Given the description of an element on the screen output the (x, y) to click on. 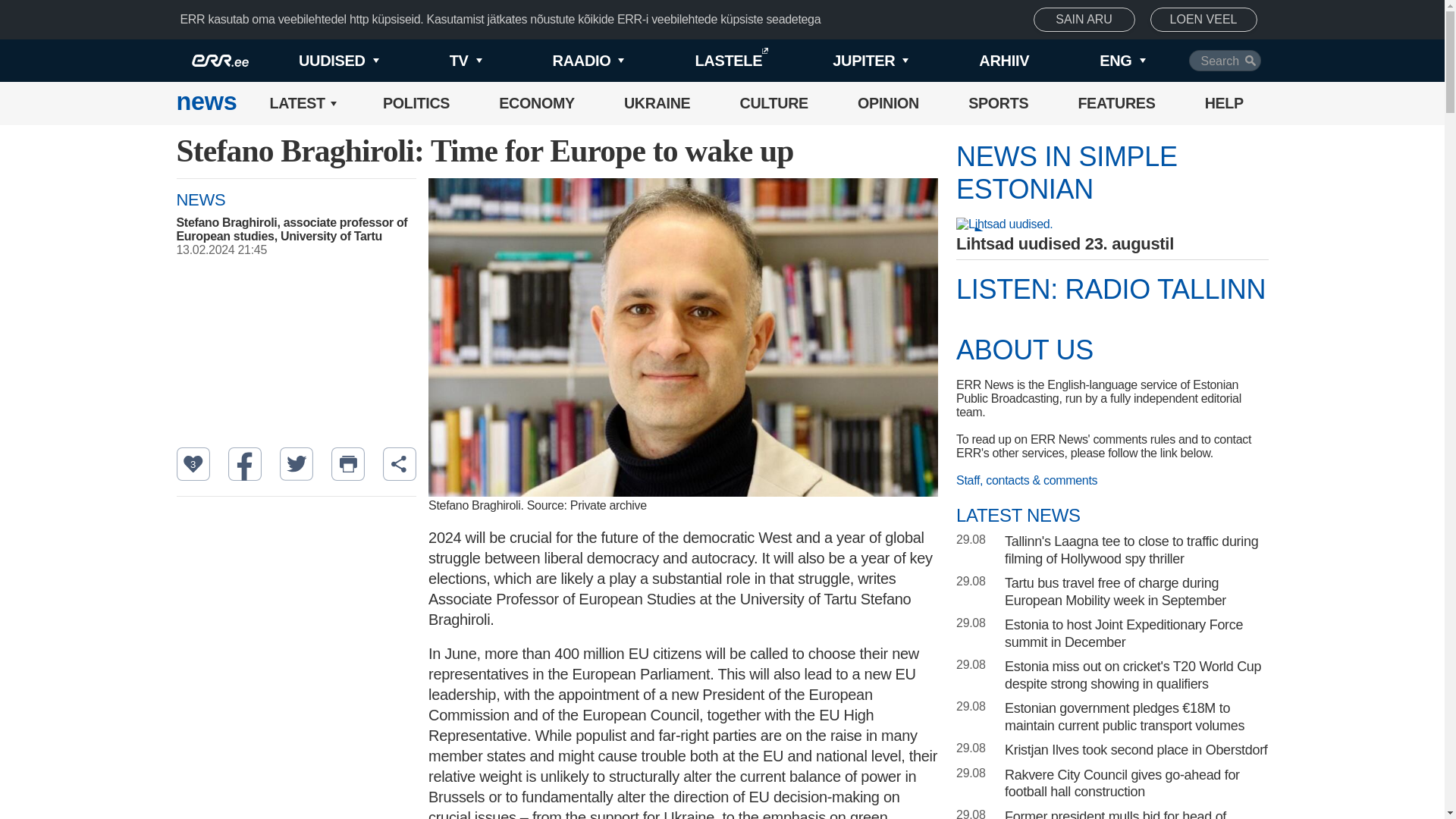
13.02.2024 21:45 (302, 250)
SAIN ARU (1084, 19)
RAADIO (563, 60)
3 (192, 463)
Avalehele (205, 103)
LOEN VEEL (1203, 19)
TV (440, 60)
UUDISED (314, 60)
